Given the description of an element on the screen output the (x, y) to click on. 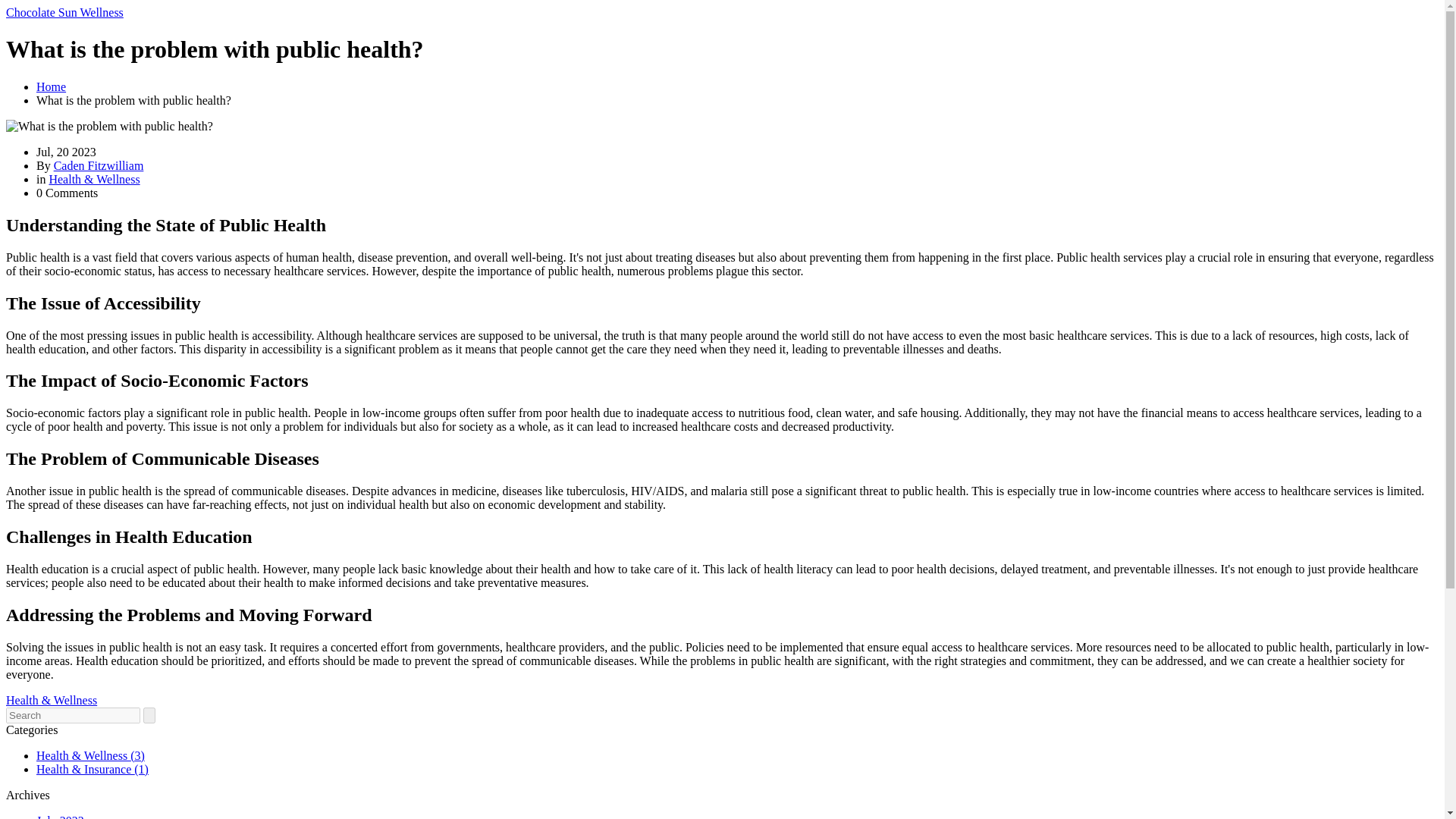
July 2023 (60, 816)
Chocolate Sun Wellness (64, 11)
0 Comments (66, 192)
Caden Fitzwilliam (98, 164)
Jul, 20 2023 (66, 151)
Home (50, 86)
